Given the description of an element on the screen output the (x, y) to click on. 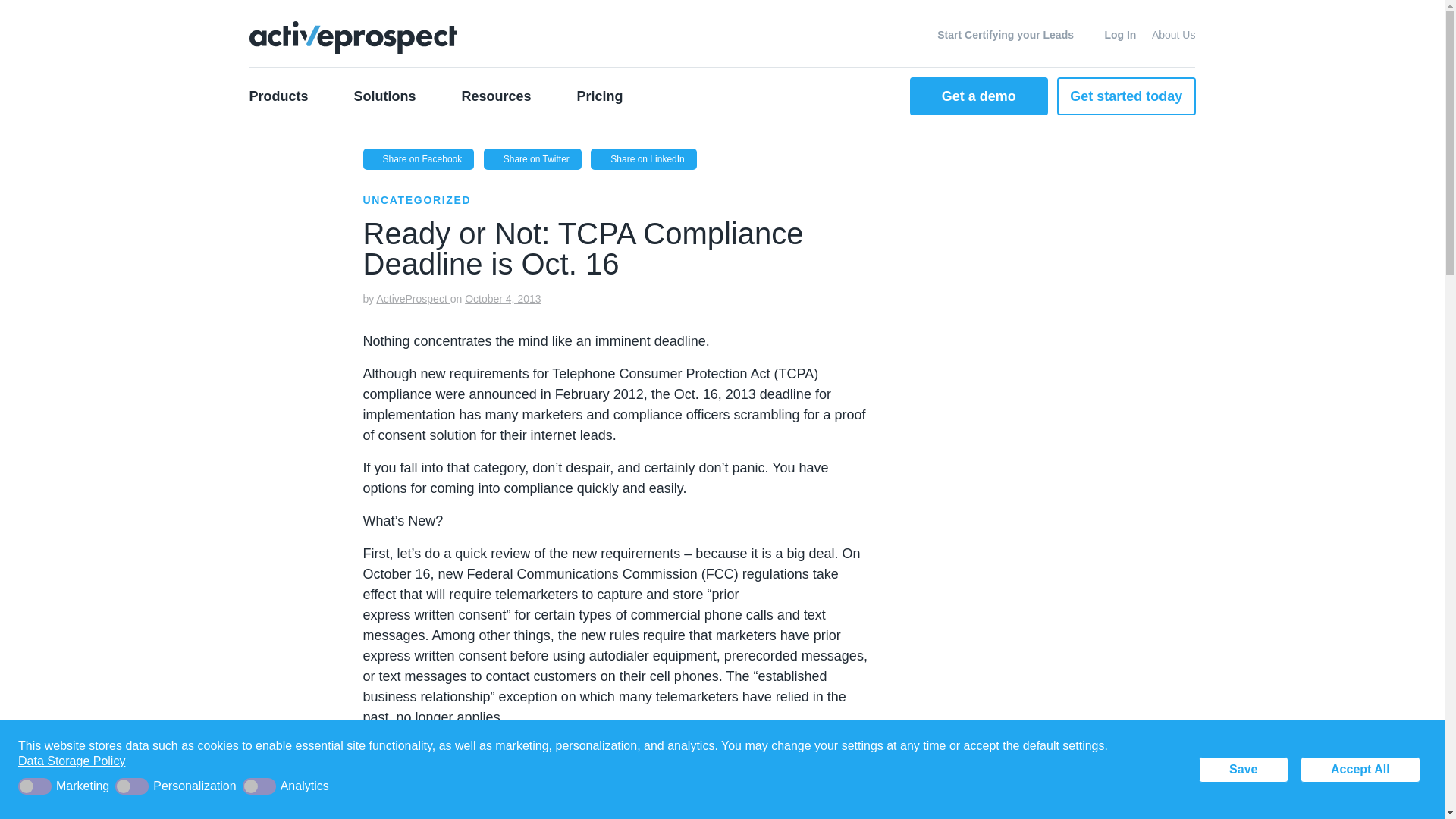
Personalization (178, 786)
Solutions (385, 96)
Accept All (1360, 769)
Analytics (288, 786)
Products (289, 96)
About Us (1173, 34)
Log In (1112, 34)
Resources (496, 96)
Start Certifying your Leads (997, 34)
Save (1243, 769)
Data Storage Policy (71, 761)
Marketing (66, 786)
